Given the description of an element on the screen output the (x, y) to click on. 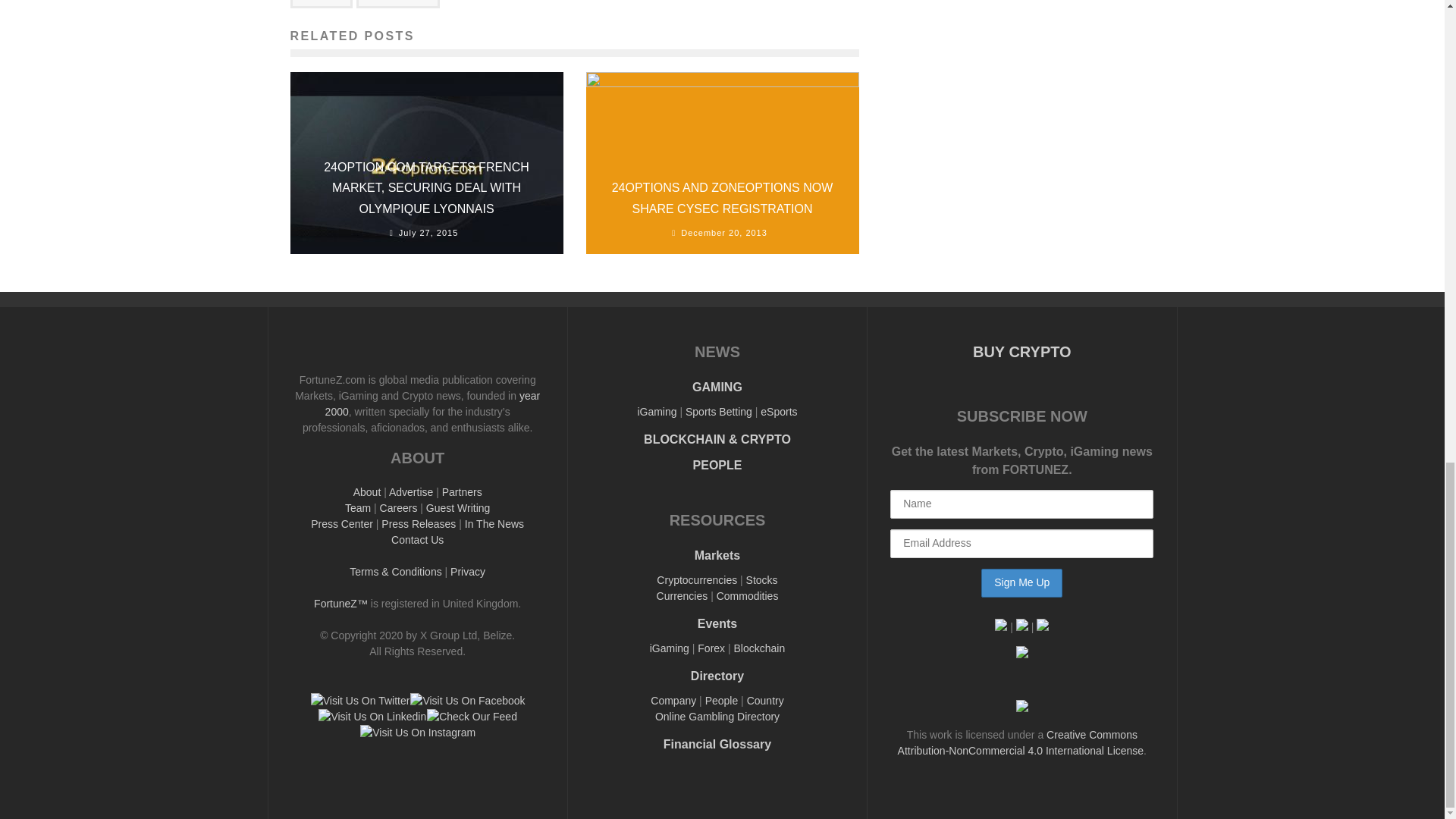
Visit Us On Facebook (466, 700)
Sign Me Up (1021, 582)
Visit Us On Linkedin (371, 716)
Visit Us On Twitter (360, 700)
